Given the description of an element on the screen output the (x, y) to click on. 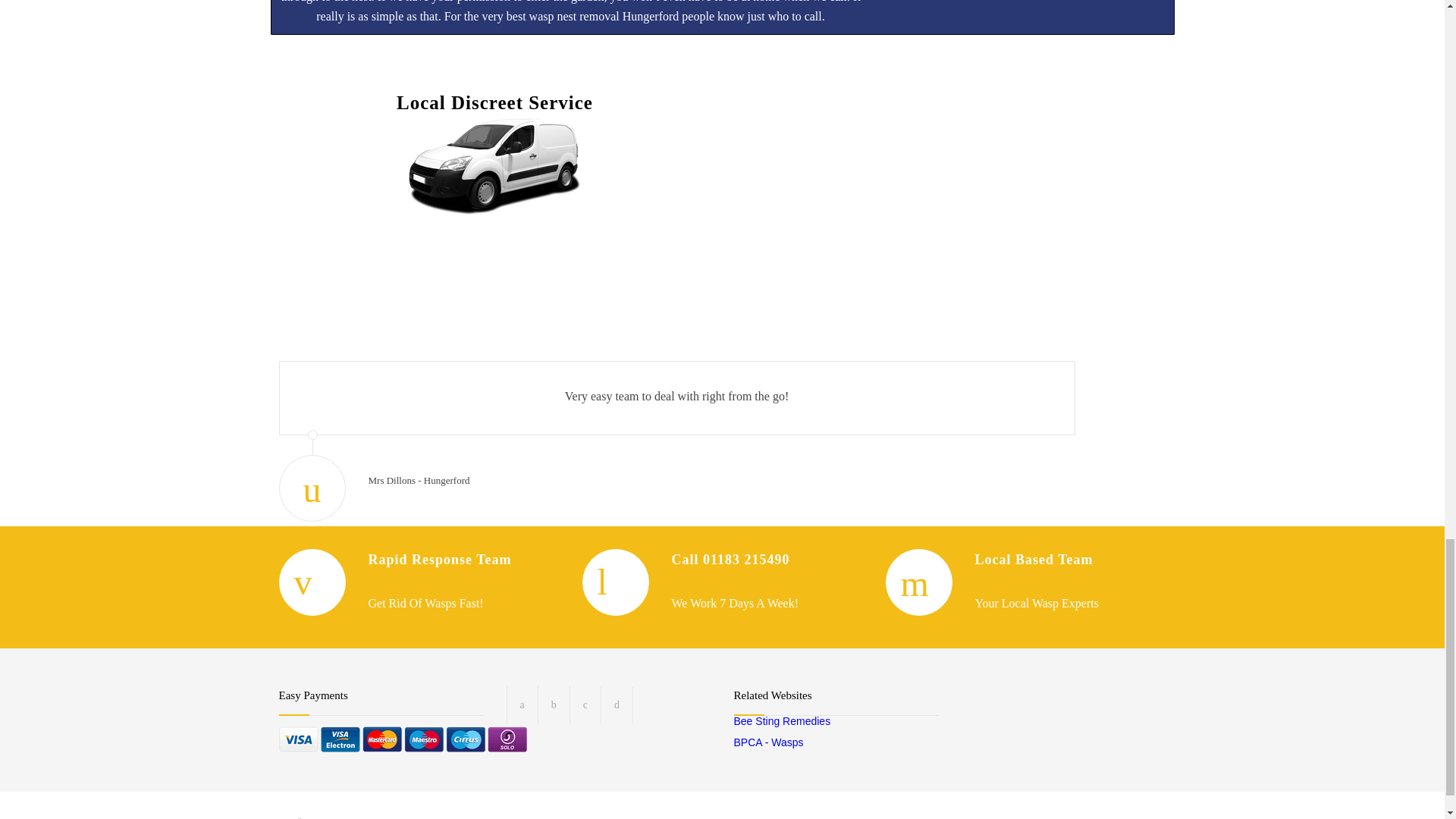
Bee Sting Remedies (782, 720)
BPCA - Wasps (768, 742)
